Given the description of an element on the screen output the (x, y) to click on. 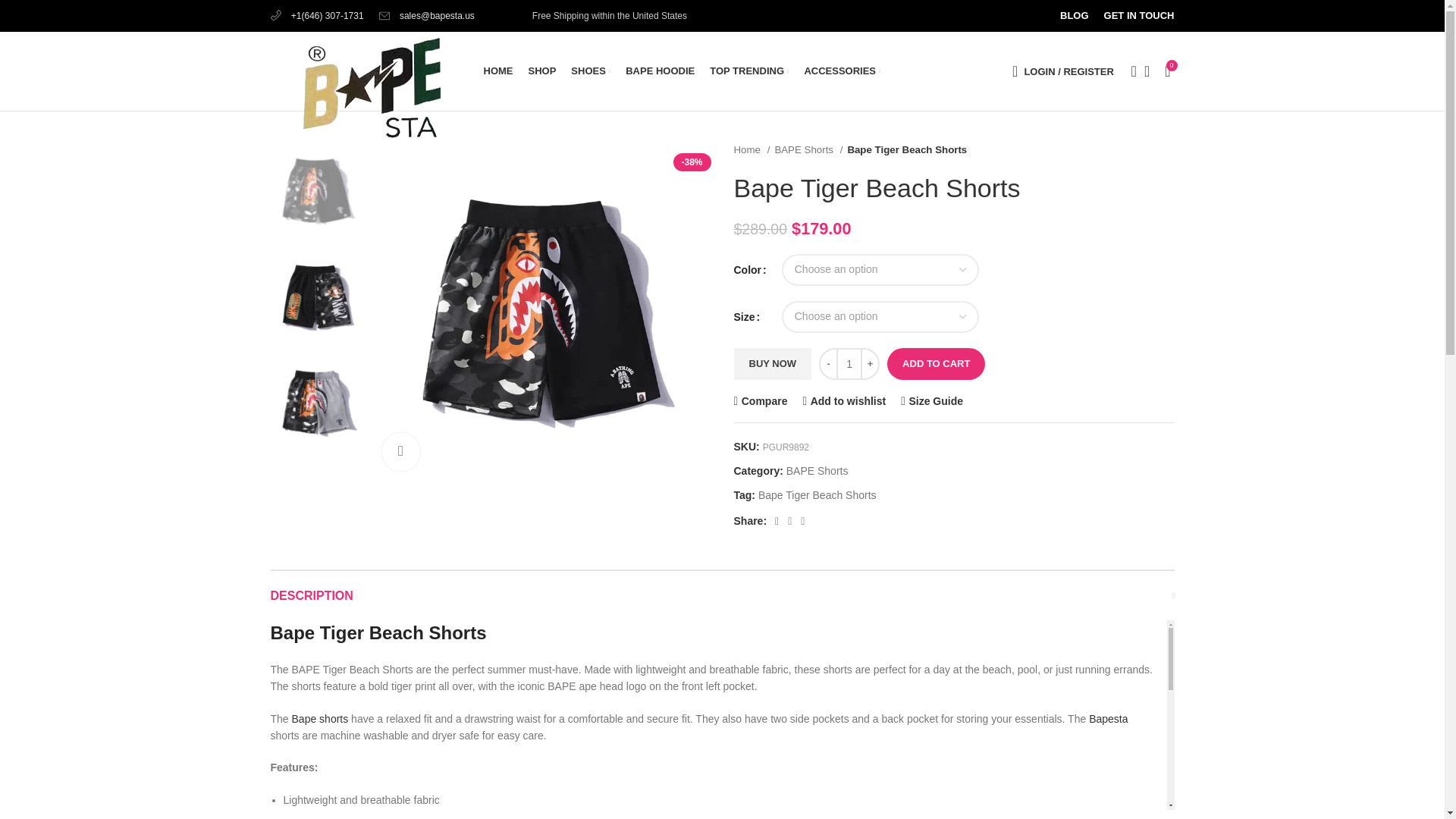
GET IN TOUCH (1138, 15)
SHOP (541, 71)
TOP TRENDING (749, 71)
BAPE HOODIE (660, 71)
Bape Tiger Beach Shorts (539, 311)
BLOG (1074, 15)
HOME (498, 71)
My account (1062, 71)
ACCESSORIES (841, 71)
Log in (988, 312)
SHOES (590, 71)
